Given the description of an element on the screen output the (x, y) to click on. 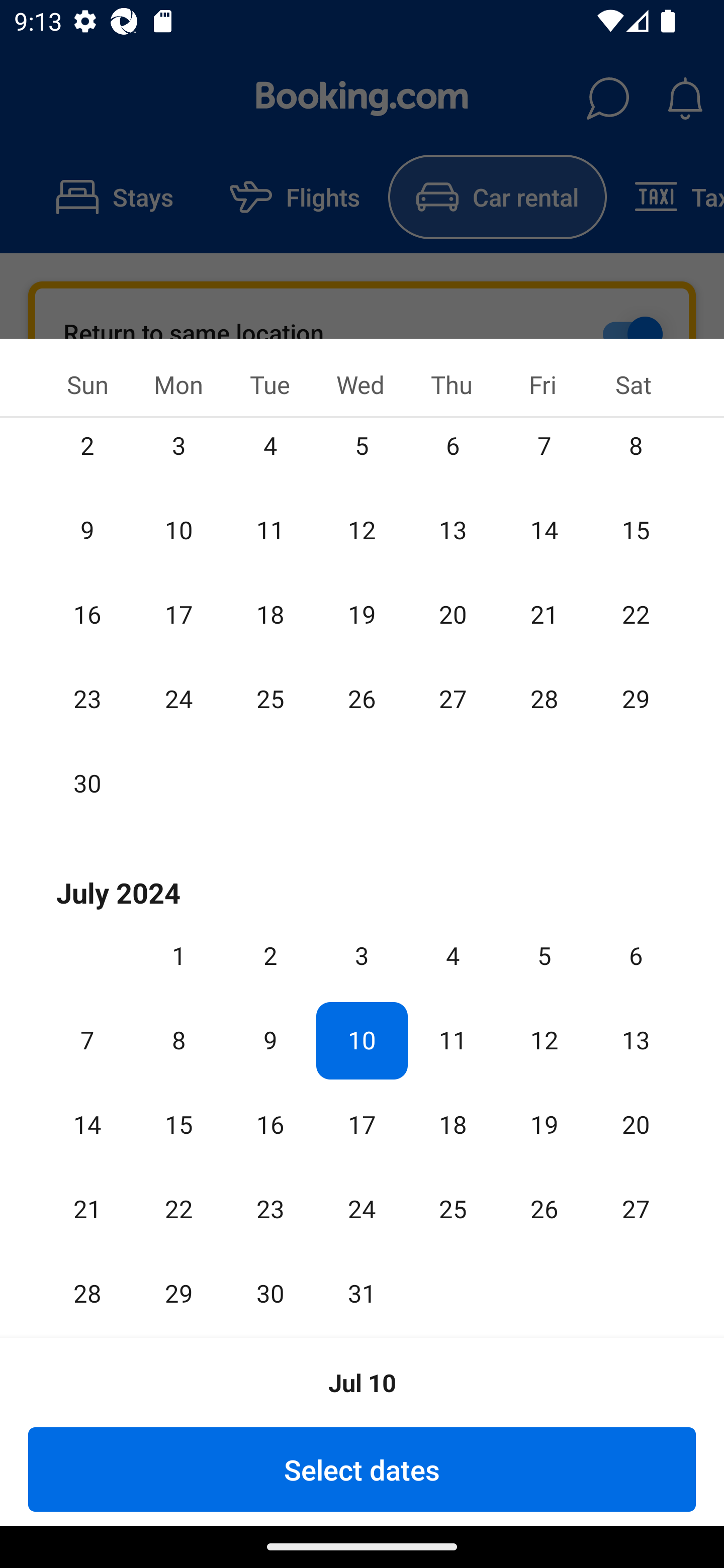
Select dates (361, 1468)
